Given the description of an element on the screen output the (x, y) to click on. 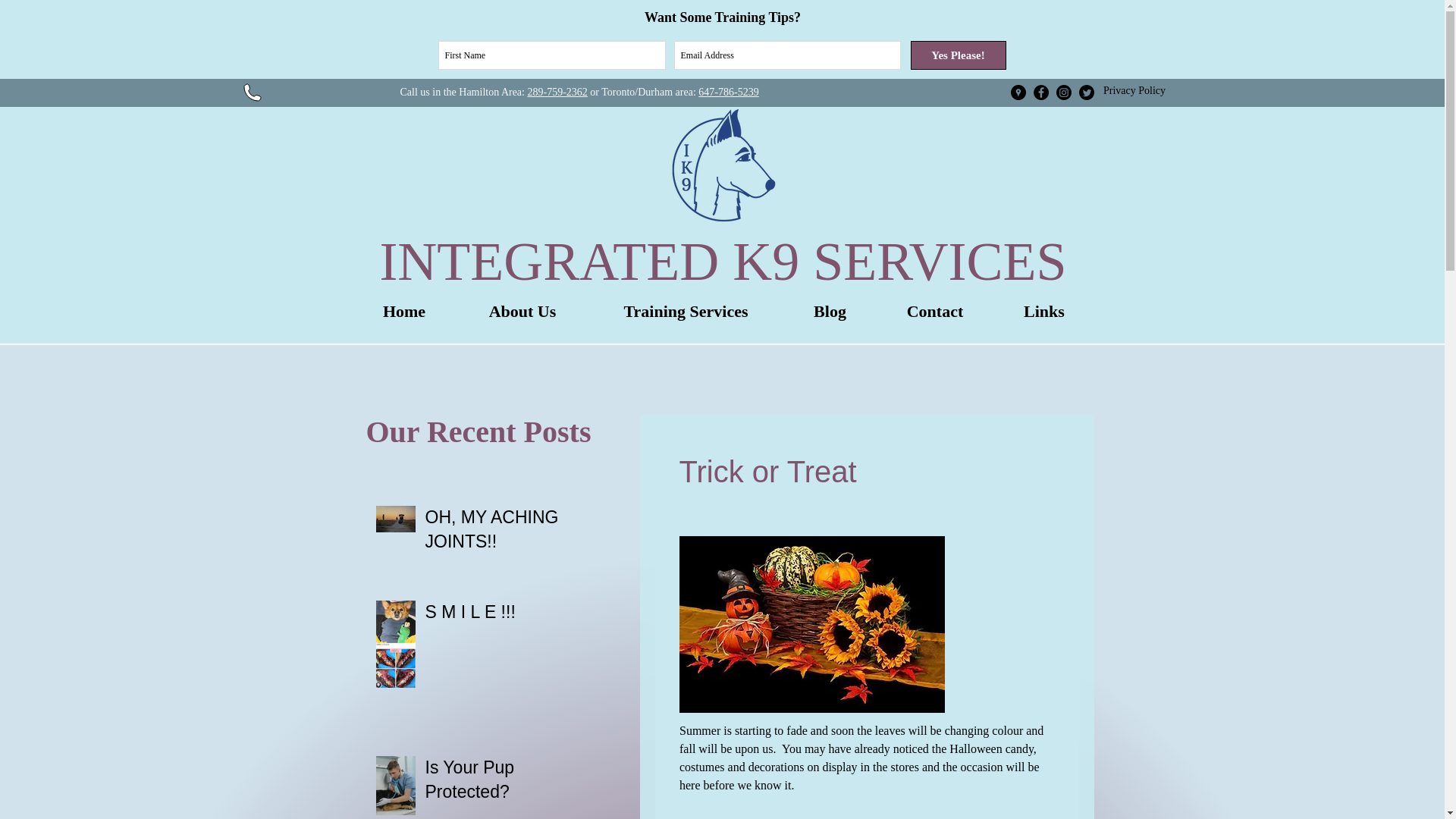
OH, MY ACHING JOINTS!! (504, 532)
Blog (830, 316)
647-786-5239 (728, 91)
289-759-2362 (556, 91)
Contact (935, 316)
Links (1043, 316)
Yes Please! (958, 54)
Is Your Pup Protected? (504, 782)
Home (404, 316)
S M I L E !!! (504, 614)
